Given the description of an element on the screen output the (x, y) to click on. 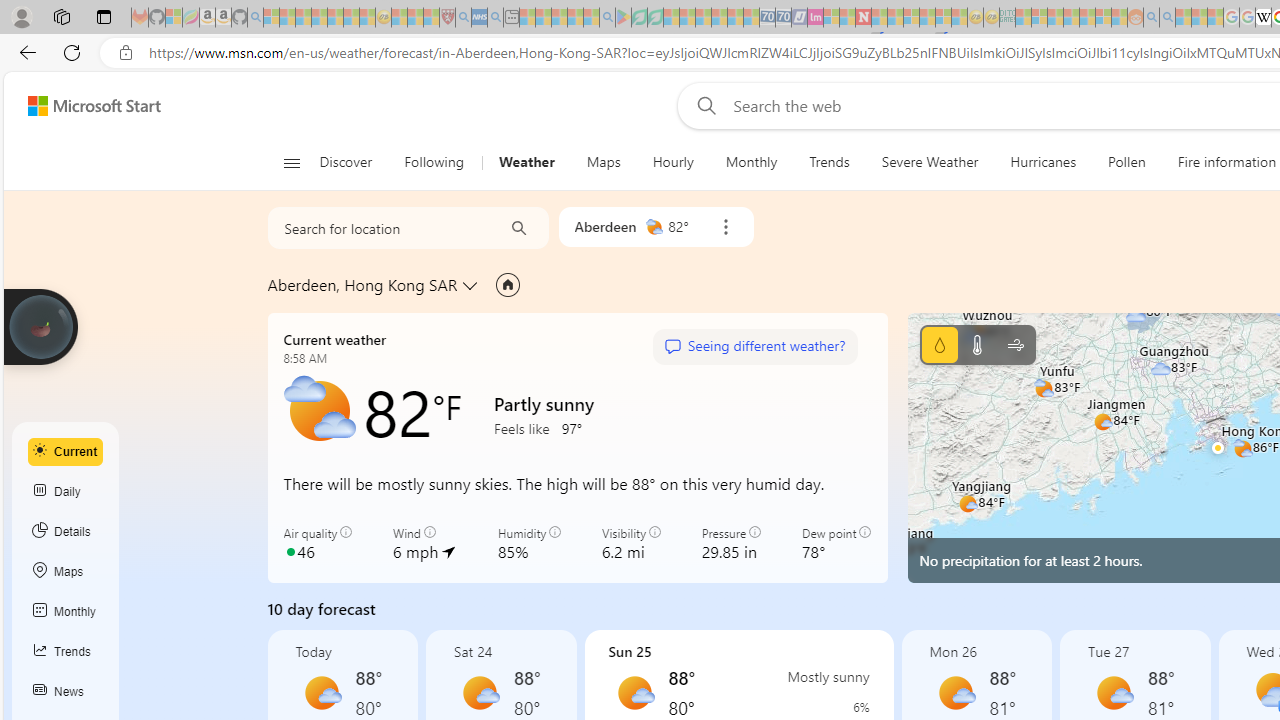
Monthly (65, 611)
Aberdeen (605, 226)
Join us in planting real trees to help our planet! (40, 327)
Local - MSN - Sleeping (431, 17)
Daily (65, 492)
Seeing different weather? (754, 347)
